Given the description of an element on the screen output the (x, y) to click on. 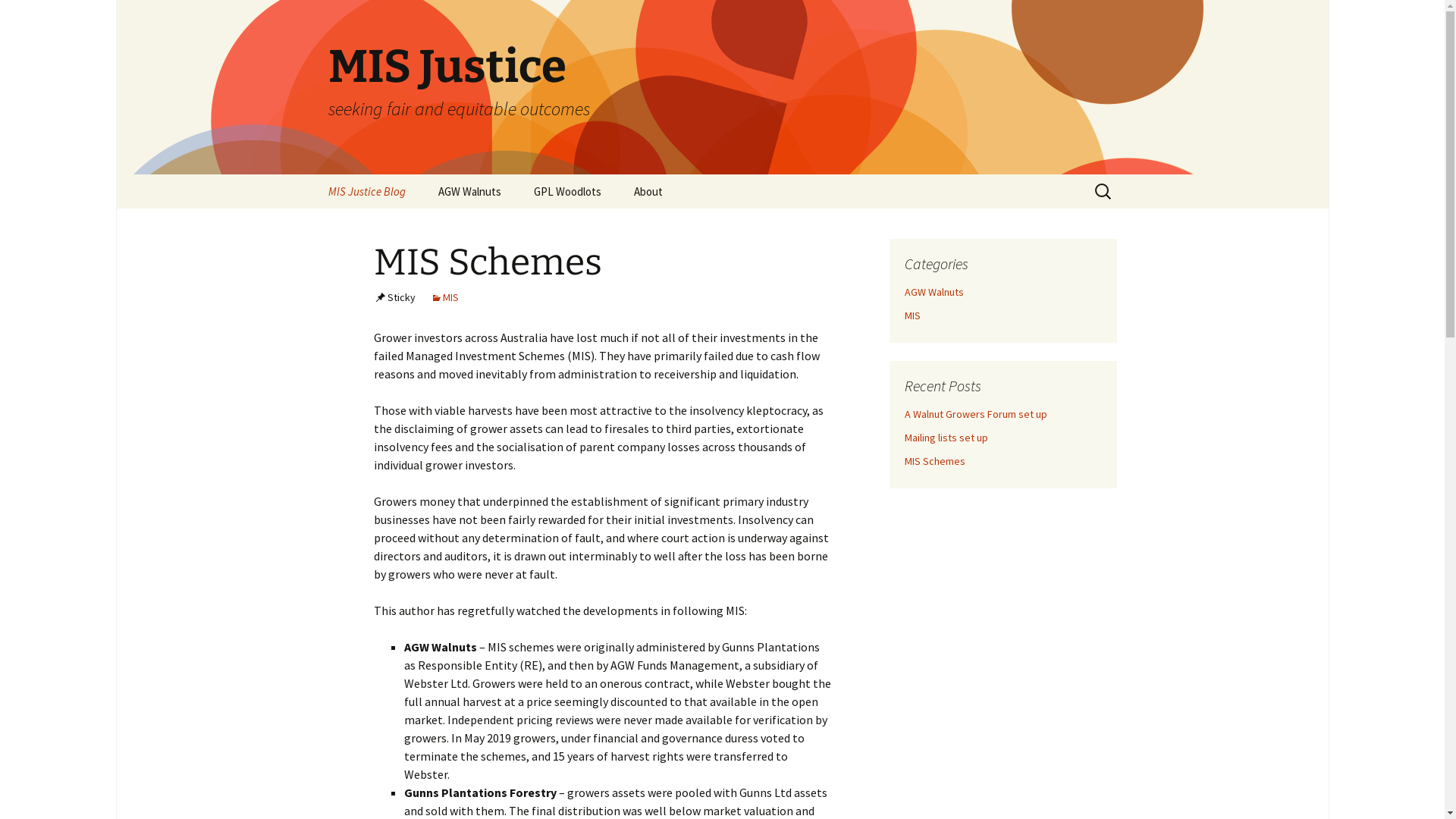
MIS Schemes Element type: text (487, 262)
Mailing lists set up Element type: text (945, 437)
Skip to content Element type: text (312, 173)
MIS Justice Blog Element type: text (366, 191)
AGW Walnuts Element type: text (933, 291)
MIS Element type: text (444, 297)
MIS Schemes Element type: text (933, 460)
AGW Walnuts Element type: text (469, 191)
Search Element type: text (18, 16)
About Element type: text (647, 191)
MIS Element type: text (911, 315)
GPL Woodlots Element type: text (567, 191)
A Walnut Growers Forum set up Element type: text (974, 413)
MIS Justice
seeking fair and equitable outcomes Element type: text (721, 87)
